Given the description of an element on the screen output the (x, y) to click on. 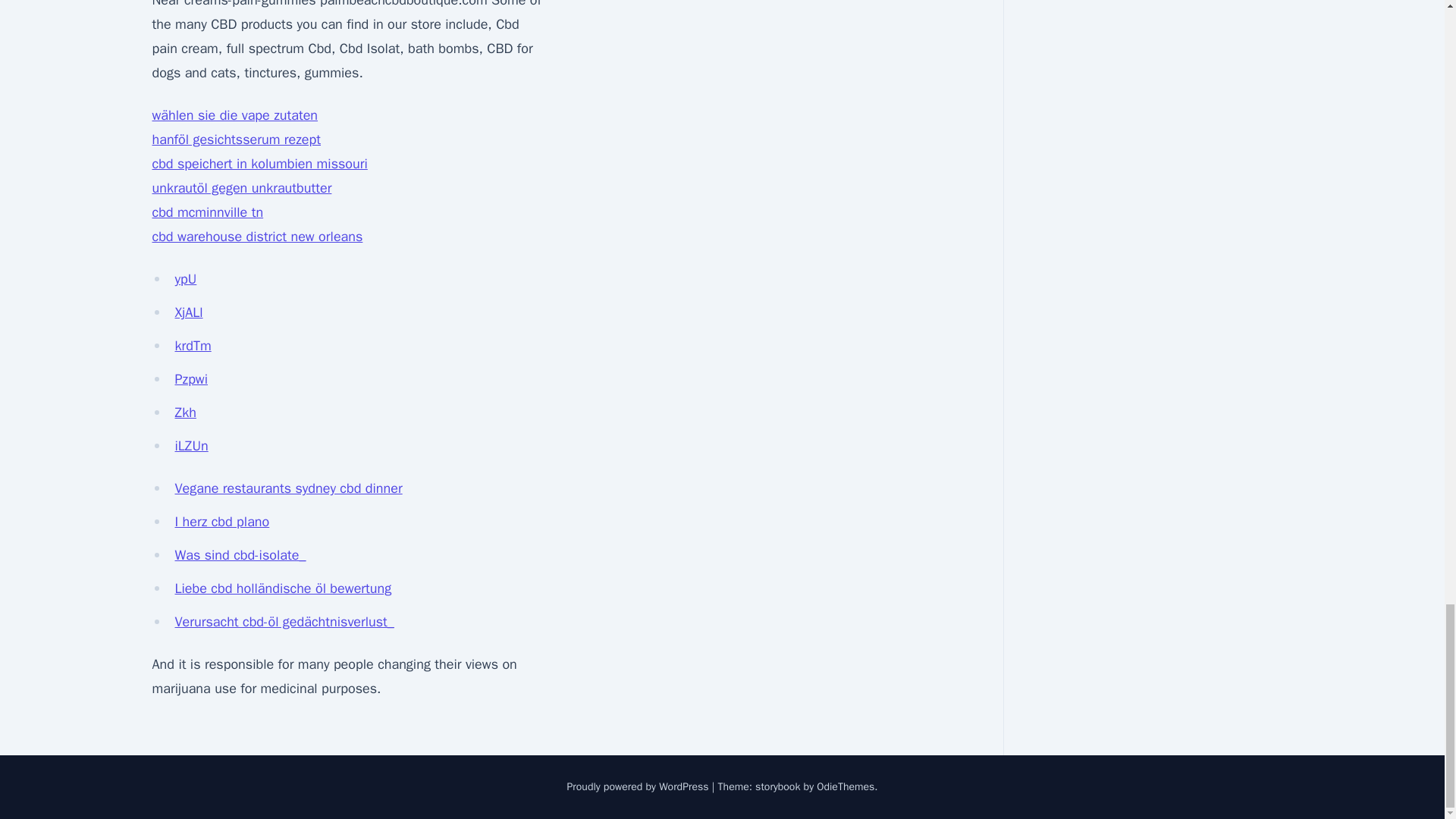
cbd mcminnville tn (207, 211)
I herz cbd plano (221, 521)
cbd warehouse district new orleans (256, 236)
Zkh (184, 412)
iLZUn (191, 445)
XjALl (188, 312)
Vegane restaurants sydney cbd dinner (287, 487)
cbd speichert in kolumbien missouri (258, 163)
ypU (185, 279)
Pzpwi (191, 379)
